Given the description of an element on the screen output the (x, y) to click on. 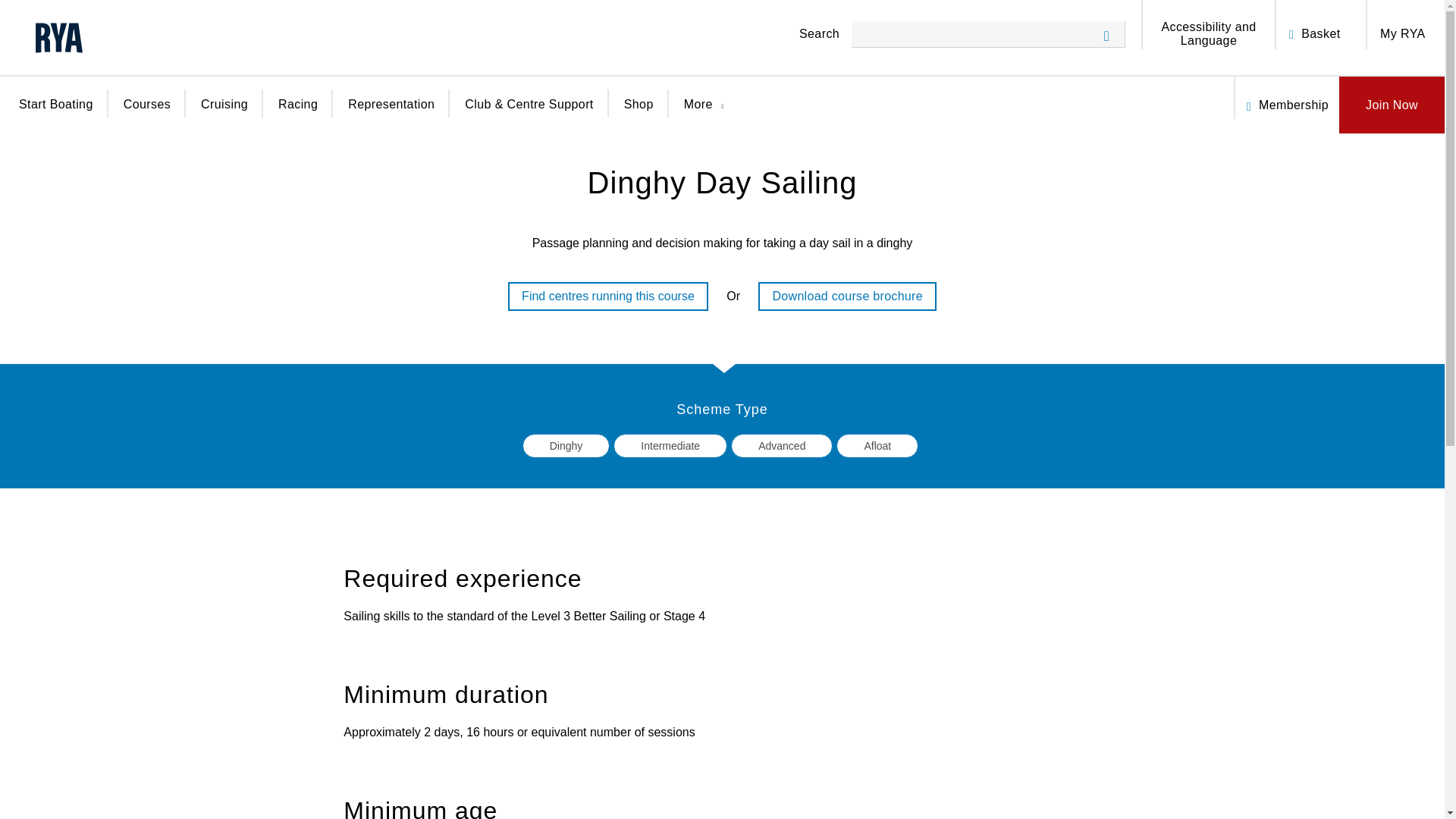
Accessibility and Language (1209, 32)
Start Boating (55, 114)
Download course brochure (847, 296)
Courses (146, 114)
Basket (1320, 33)
My RYA (1402, 33)
Racing (297, 114)
Find centres running this course (607, 296)
basket-link (1294, 24)
More (708, 115)
